Given the description of an element on the screen output the (x, y) to click on. 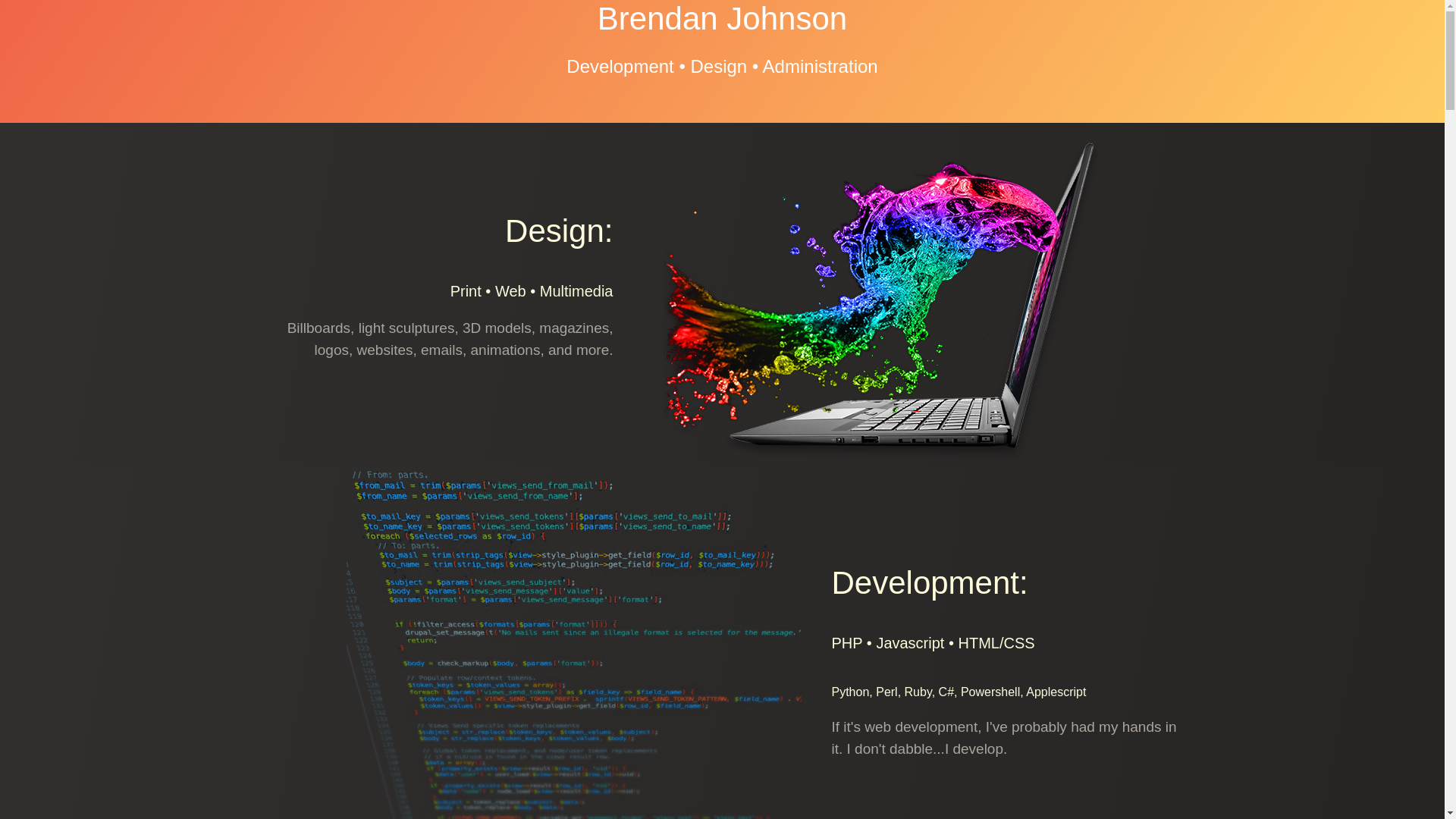
Development: (929, 581)
Design: (558, 230)
